Given the description of an element on the screen output the (x, y) to click on. 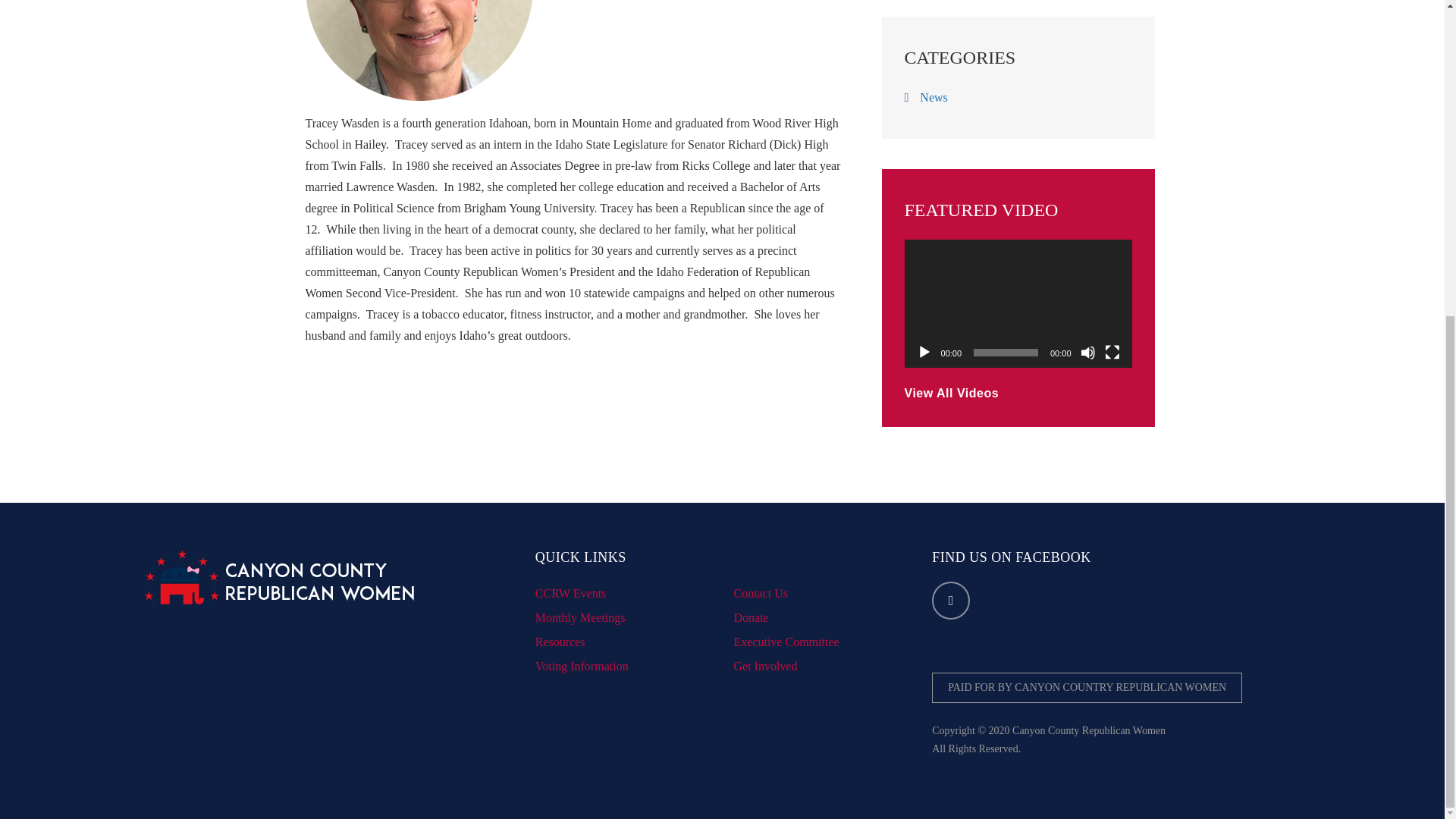
Monthly Meetings (580, 617)
Resources (560, 642)
Fullscreen (1111, 352)
Play (924, 352)
View All Videos (951, 393)
Get Involved (764, 666)
News (933, 97)
Donate (750, 617)
CCRW Events (571, 593)
View All Videos (951, 393)
Contact Us (760, 593)
Voting Information (581, 666)
Executive Committee (785, 642)
Mute (1087, 352)
